Given the description of an element on the screen output the (x, y) to click on. 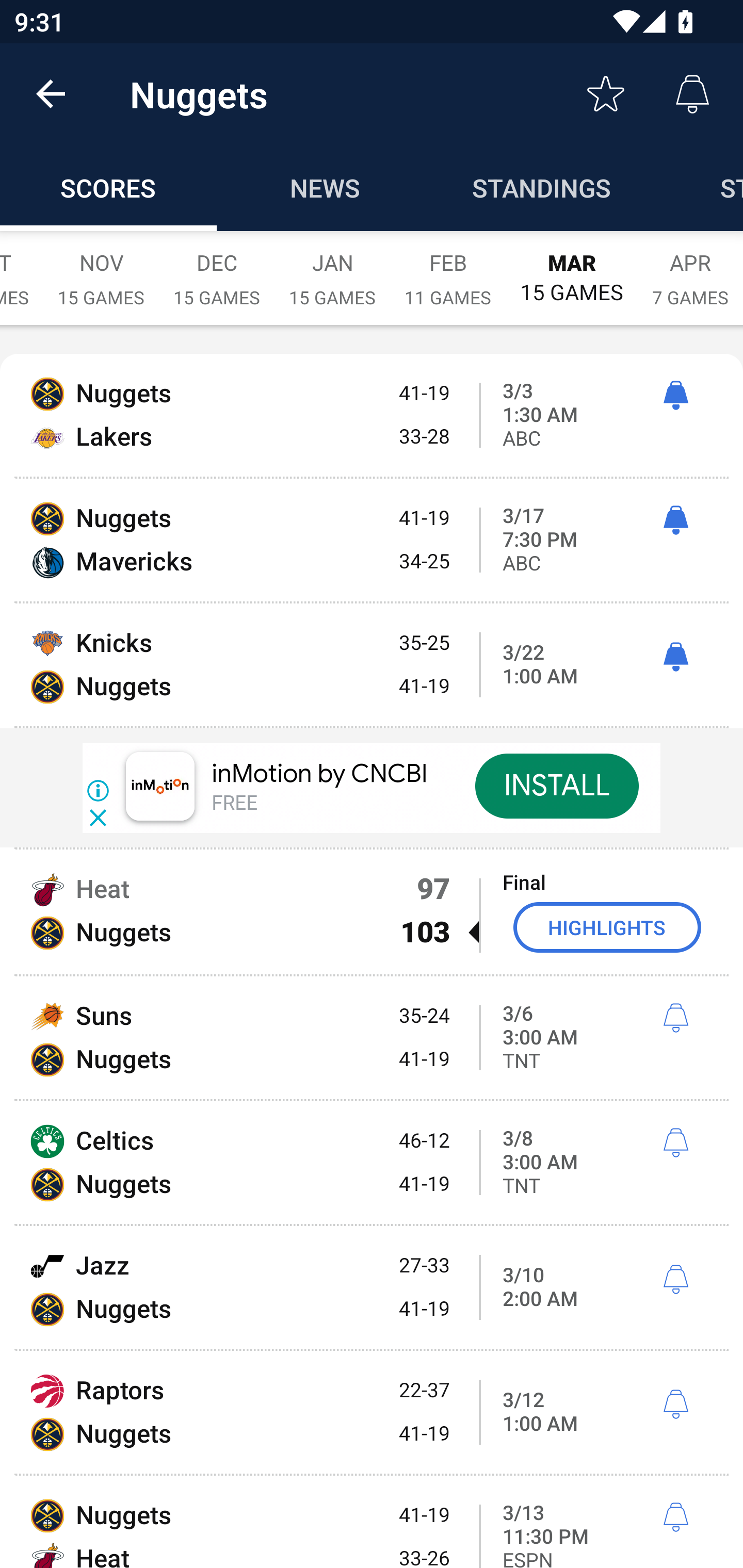
back.button (50, 93)
Favorite toggle (605, 93)
Alerts (692, 93)
News NEWS (324, 187)
Standings STANDINGS (541, 187)
NOV 15 GAMES (101, 268)
DEC 15 GAMES (216, 268)
JAN 15 GAMES (332, 268)
FEB 11 GAMES (447, 268)
MAR 15 GAMES (571, 267)
APR 7 GAMES (690, 268)
Nuggets 41-19 Lakers 33-28 3/3 1:30 AM ì ABC (371, 415)
ì (675, 395)
Nuggets 41-19 Mavericks 34-25 3/17 7:30 PM ì ABC (371, 540)
ì (675, 520)
Knicks 35-25 Nuggets 41-19 3/22 1:00 AM ì (371, 664)
ì (675, 657)
INSTALL (556, 786)
inMotion by CNCBI (319, 774)
FREE (234, 803)
Heat 97 Final Nuggets 103  HIGHLIGHTS (371, 911)
HIGHLIGHTS (607, 927)
Suns 35-24 Nuggets 41-19 3/6 3:00 AM í TNT (371, 1037)
í (675, 1017)
Celtics 46-12 Nuggets 41-19 3/8 3:00 AM í TNT (371, 1162)
í (675, 1142)
Jazz 27-33 Nuggets 41-19 3/10 2:00 AM í (371, 1287)
í (675, 1279)
Raptors 22-37 Nuggets 41-19 3/12 1:00 AM í (371, 1412)
í (675, 1404)
Nuggets 41-19 Heat 33-26 3/13 11:30 PM í ESPN (371, 1521)
í (675, 1517)
